Given the description of an element on the screen output the (x, y) to click on. 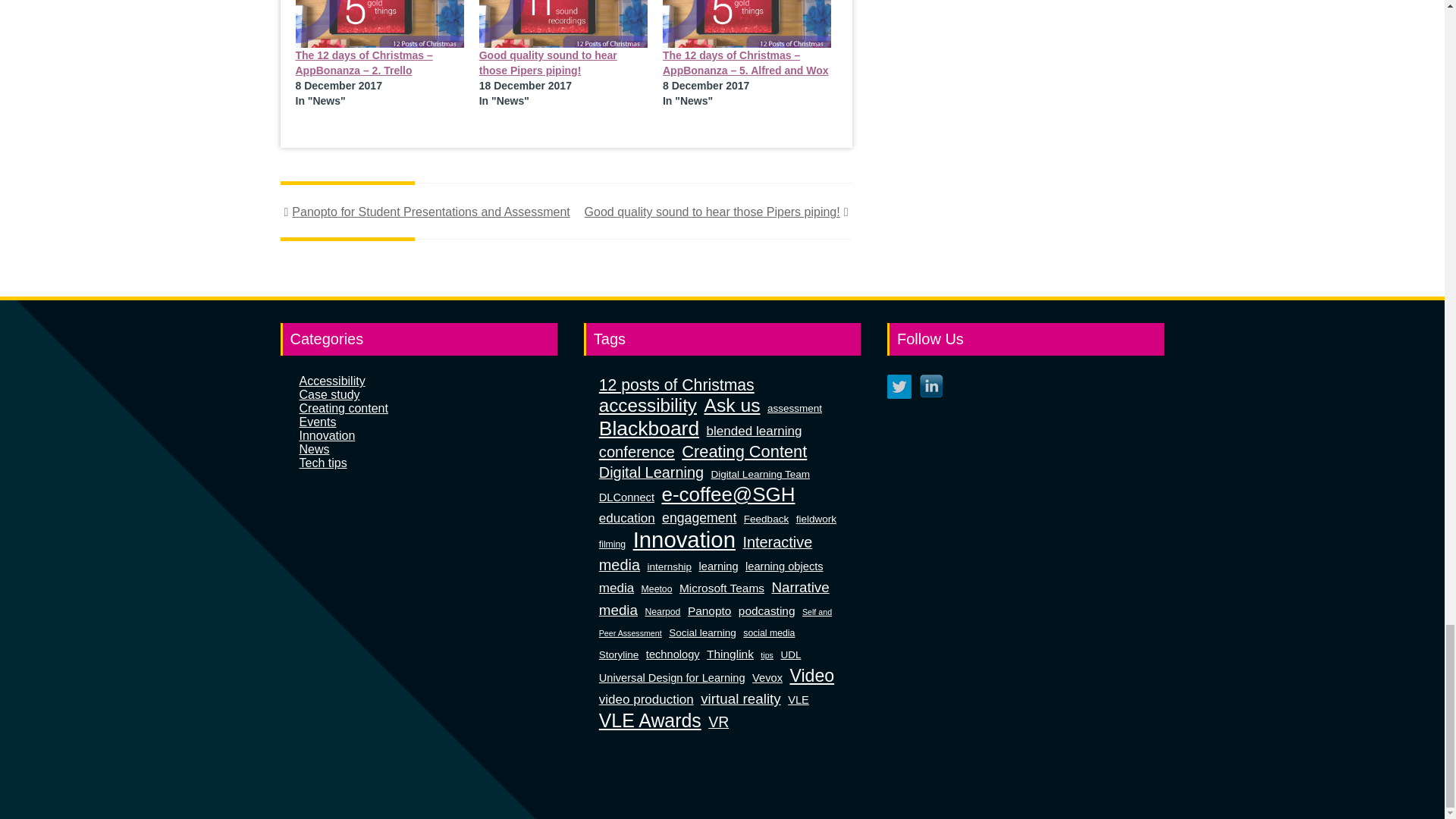
Follow Us on Twitter (898, 386)
Follow Us on LinkedIn (930, 386)
Good quality sound to hear those Pipers piping! (563, 23)
Good quality sound to hear those Pipers piping! (548, 62)
